Given the description of an element on the screen output the (x, y) to click on. 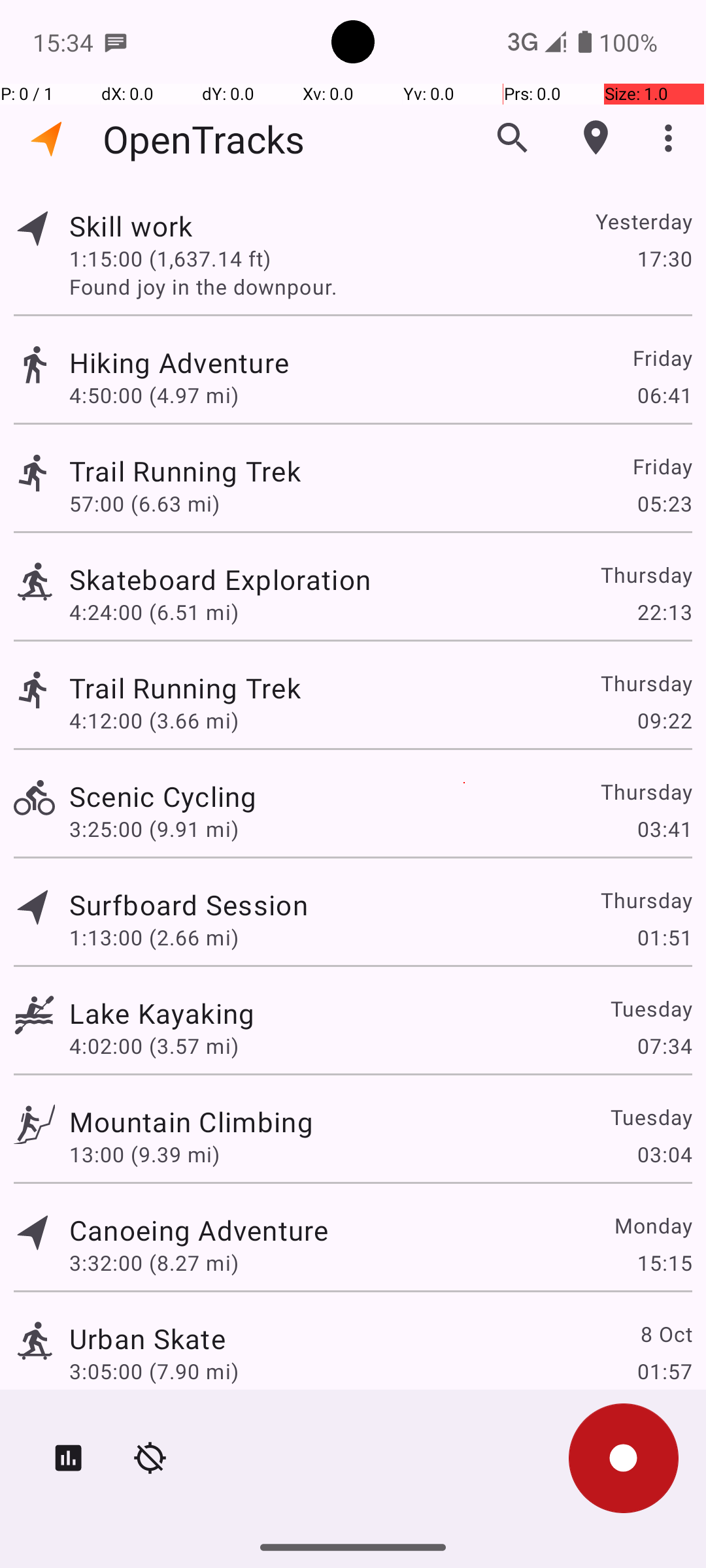
Skill work Element type: android.widget.TextView (130, 225)
1:15:00 (1,637.14 ft) Element type: android.widget.TextView (169, 258)
17:30 Element type: android.widget.TextView (664, 258)
Found joy in the downpour. Element type: android.widget.TextView (380, 286)
Hiking Adventure Element type: android.widget.TextView (178, 361)
4:50:00 (4.97 mi) Element type: android.widget.TextView (153, 394)
06:41 Element type: android.widget.TextView (664, 394)
Trail Running Trek Element type: android.widget.TextView (184, 470)
57:00 (6.63 mi) Element type: android.widget.TextView (144, 503)
05:23 Element type: android.widget.TextView (664, 503)
Skateboard Exploration Element type: android.widget.TextView (219, 578)
4:24:00 (6.51 mi) Element type: android.widget.TextView (153, 611)
22:13 Element type: android.widget.TextView (664, 611)
4:12:00 (3.66 mi) Element type: android.widget.TextView (153, 720)
09:22 Element type: android.widget.TextView (664, 720)
Scenic Cycling Element type: android.widget.TextView (162, 795)
3:25:00 (9.91 mi) Element type: android.widget.TextView (153, 828)
03:41 Element type: android.widget.TextView (664, 828)
Surfboard Session Element type: android.widget.TextView (188, 904)
1:13:00 (2.66 mi) Element type: android.widget.TextView (153, 937)
01:51 Element type: android.widget.TextView (664, 937)
Lake Kayaking Element type: android.widget.TextView (161, 1012)
4:02:00 (3.57 mi) Element type: android.widget.TextView (153, 1045)
07:34 Element type: android.widget.TextView (664, 1045)
Mountain Climbing Element type: android.widget.TextView (190, 1121)
13:00 (9.39 mi) Element type: android.widget.TextView (144, 1154)
03:04 Element type: android.widget.TextView (664, 1154)
Canoeing Adventure Element type: android.widget.TextView (198, 1229)
Monday Element type: android.widget.TextView (652, 1225)
3:32:00 (8.27 mi) Element type: android.widget.TextView (153, 1262)
15:15 Element type: android.widget.TextView (664, 1262)
Urban Skate Element type: android.widget.TextView (147, 1337)
8 Oct Element type: android.widget.TextView (665, 1333)
3:05:00 (7.90 mi) Element type: android.widget.TextView (153, 1370)
01:57 Element type: android.widget.TextView (664, 1370)
